Given the description of an element on the screen output the (x, y) to click on. 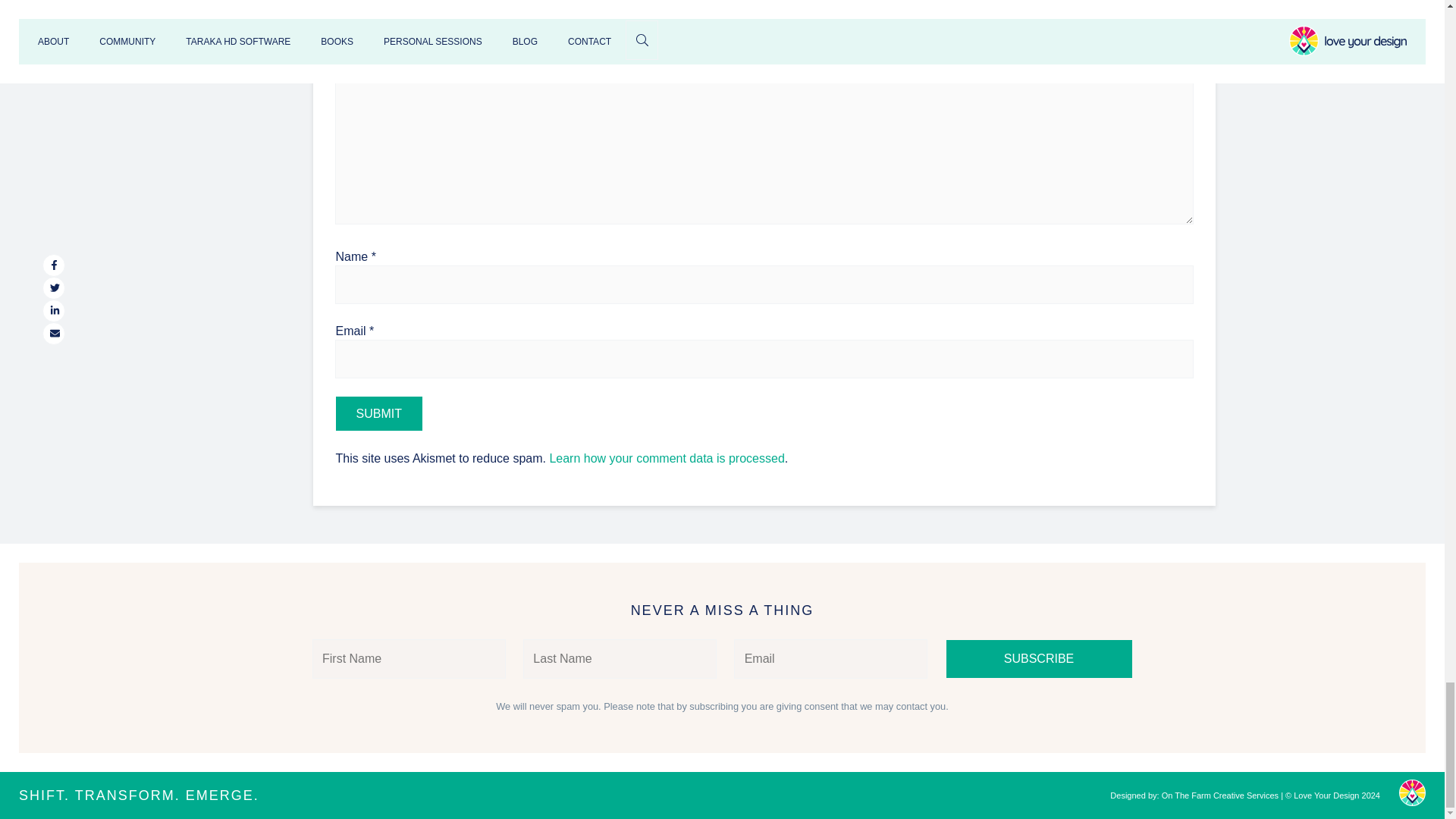
On The Farm Creative Services (1219, 795)
Learn how your comment data is processed (666, 458)
Subscribe (1039, 658)
Submit (378, 413)
Submit (378, 413)
Subscribe (1039, 658)
